Given the description of an element on the screen output the (x, y) to click on. 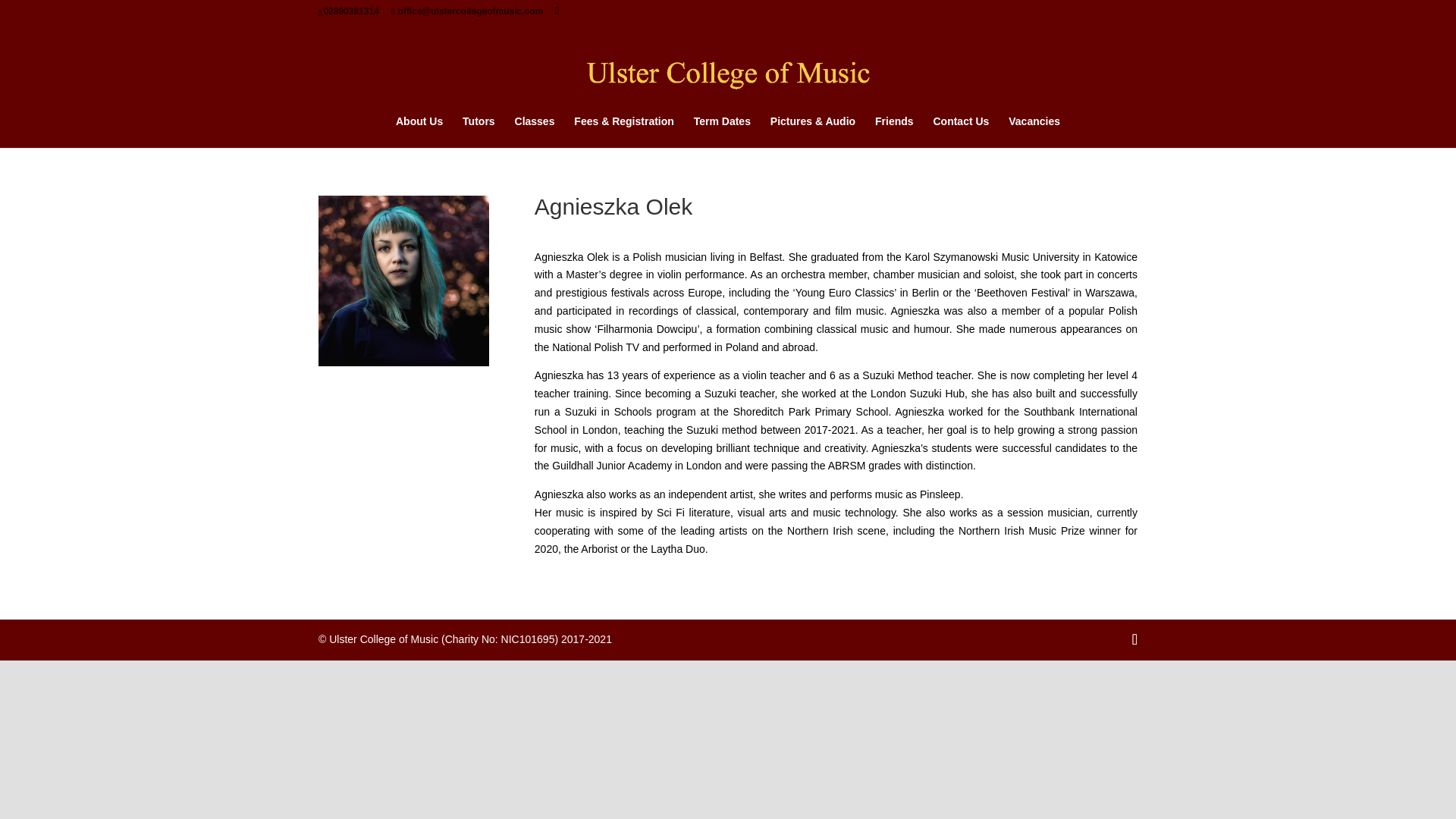
Agnieszka-Olek (403, 280)
Vacancies (1034, 132)
Contact Us (960, 132)
About Us (419, 132)
Classes (534, 132)
Tutors (479, 132)
Term Dates (722, 132)
Friends (894, 132)
